Given the description of an element on the screen output the (x, y) to click on. 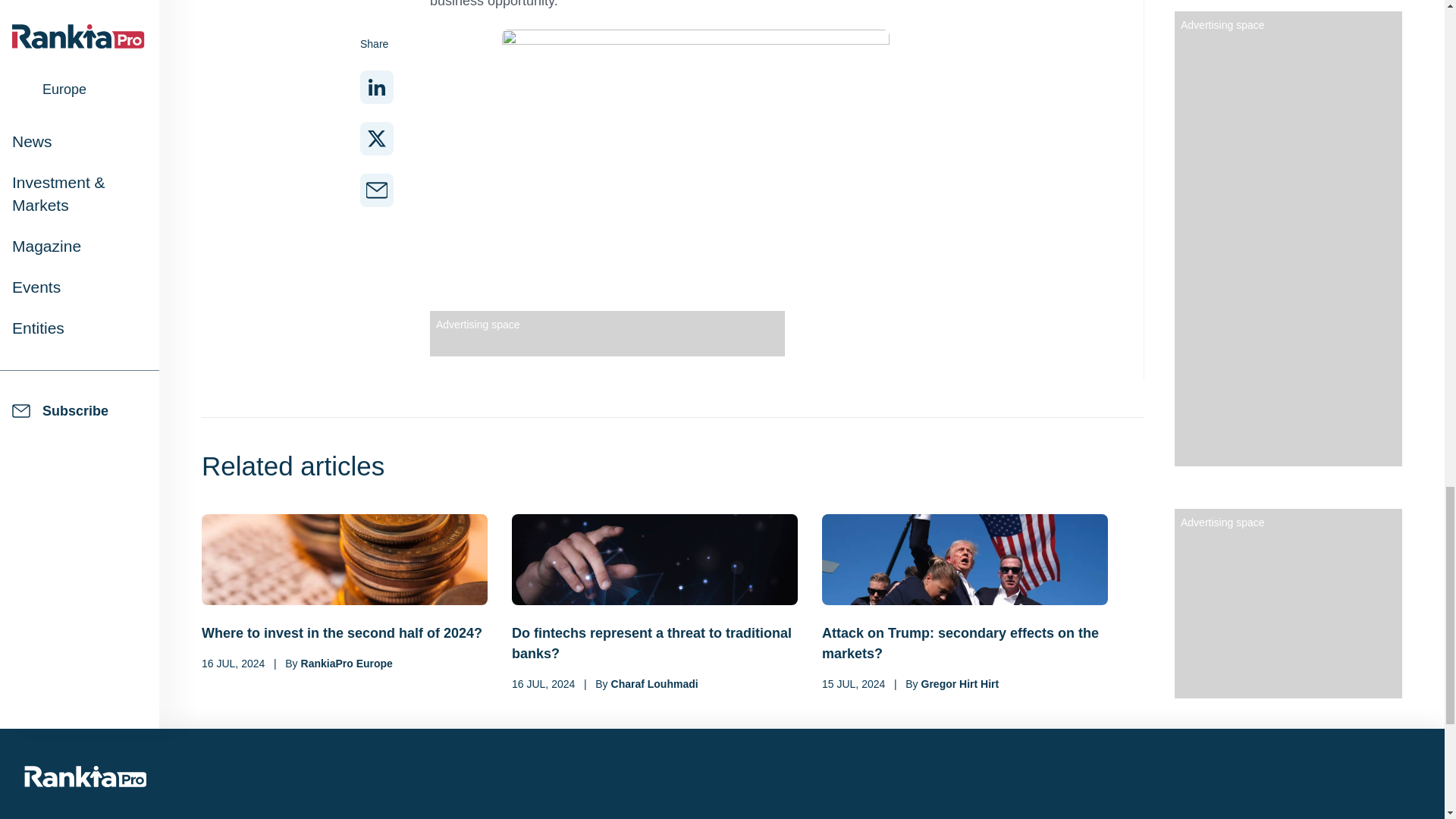
Where to invest in the second half of 2024? (344, 633)
Gregor Hirt Hirt (959, 684)
Attack on Trump: secondary effects on the markets? (965, 643)
Do fintechs represent a threat to traditional banks? (654, 643)
